Given the description of an element on the screen output the (x, y) to click on. 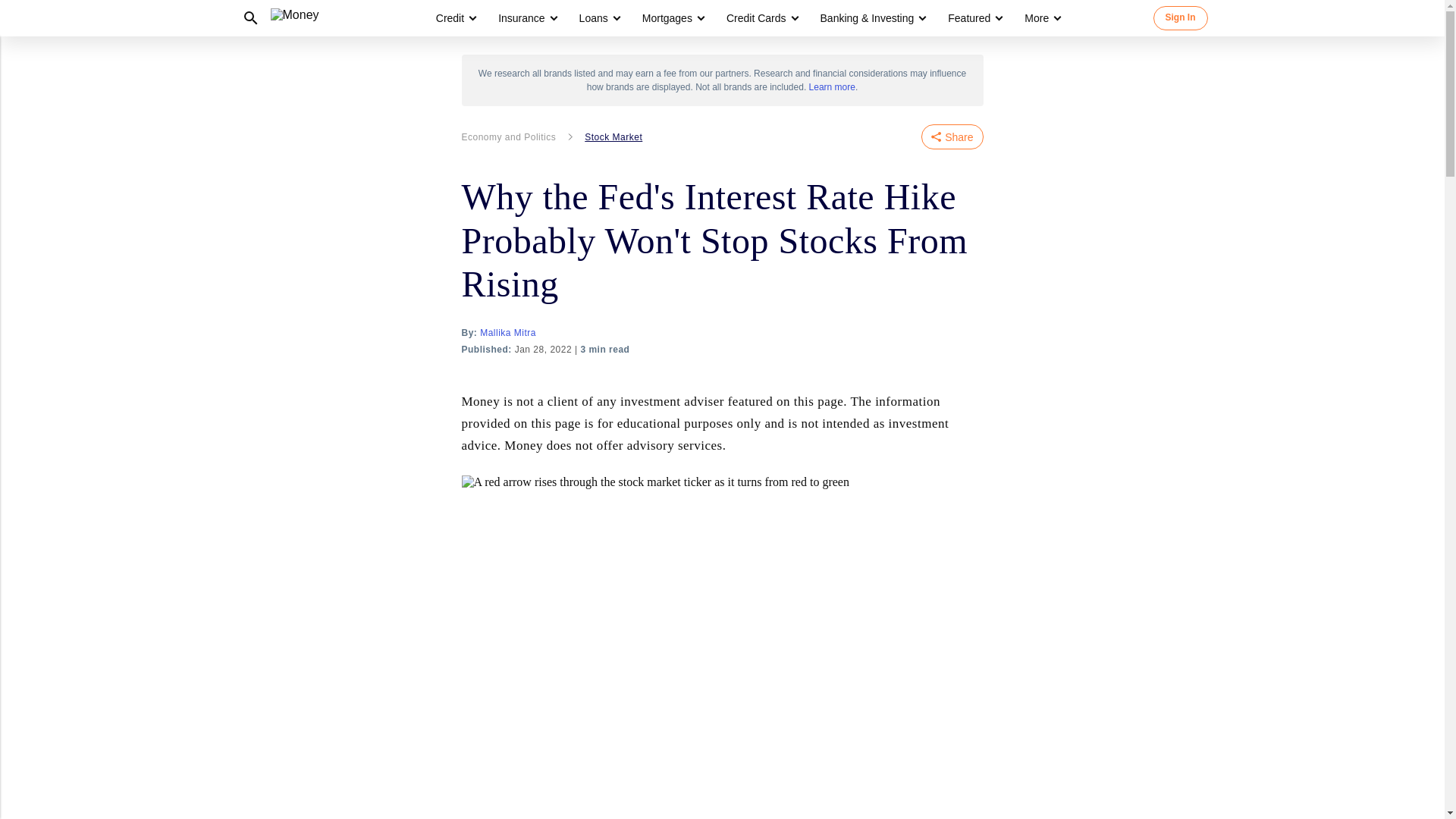
Loans (598, 18)
Loans (593, 18)
Insurance (526, 18)
Mortgages (667, 18)
Insurance (520, 18)
Search (249, 18)
Credit (449, 18)
Credit Cards (761, 18)
Credit Cards (756, 18)
Credit (455, 18)
Mortgages (672, 18)
